Given the description of an element on the screen output the (x, y) to click on. 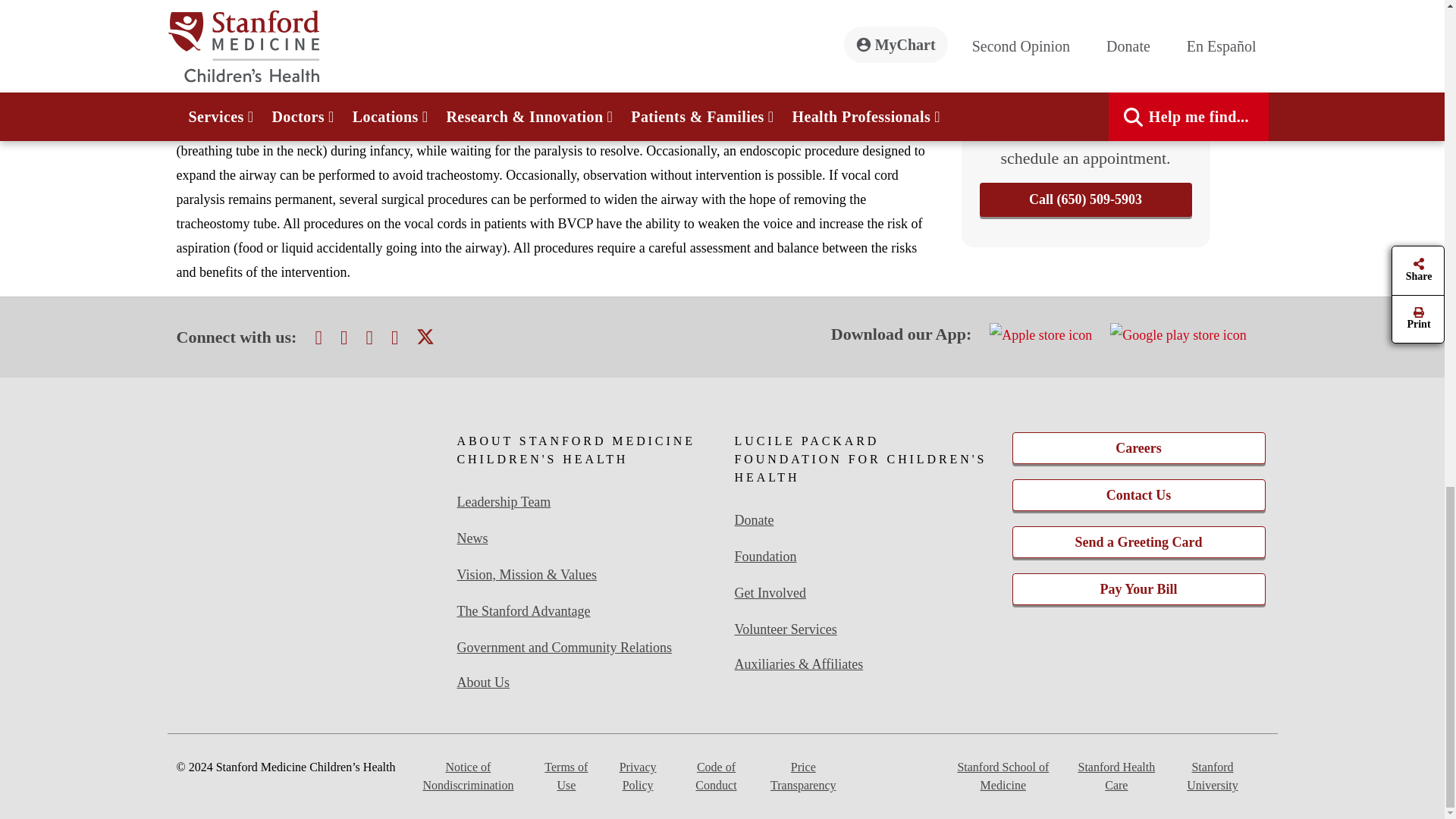
Magnet (305, 469)
U.S. News Best Hospital (305, 565)
